Given the description of an element on the screen output the (x, y) to click on. 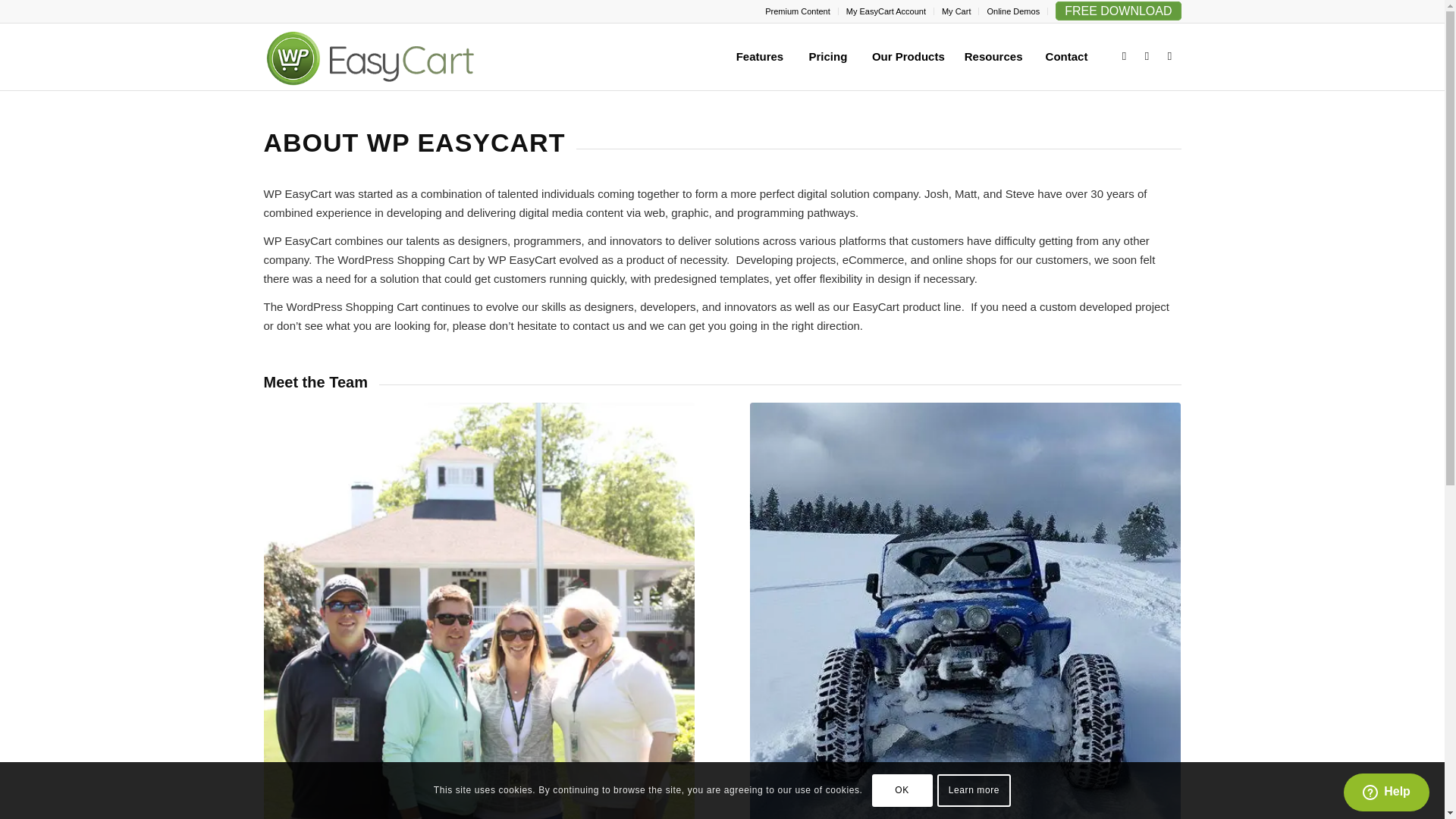
Facebook (1146, 56)
Online Demos (1013, 11)
Resources (993, 56)
Pricing (827, 56)
Premium Content (797, 11)
Features (759, 56)
wp-easycart-logo (391, 58)
My EasyCart Account (885, 11)
Our Products (908, 56)
X (1124, 56)
